Given the description of an element on the screen output the (x, y) to click on. 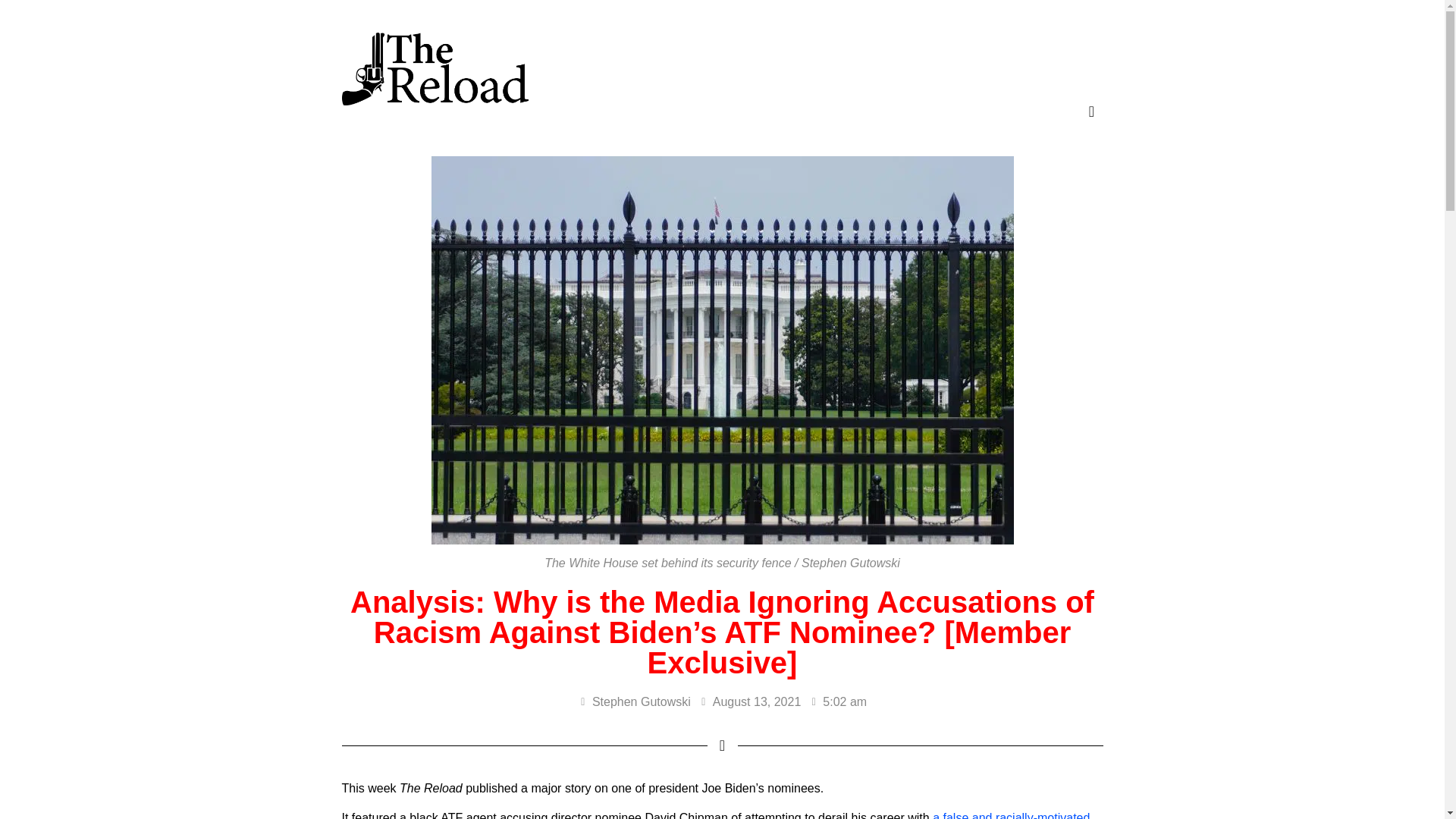
August 13, 2021 (750, 701)
Stephen Gutowski (634, 701)
